Given the description of an element on the screen output the (x, y) to click on. 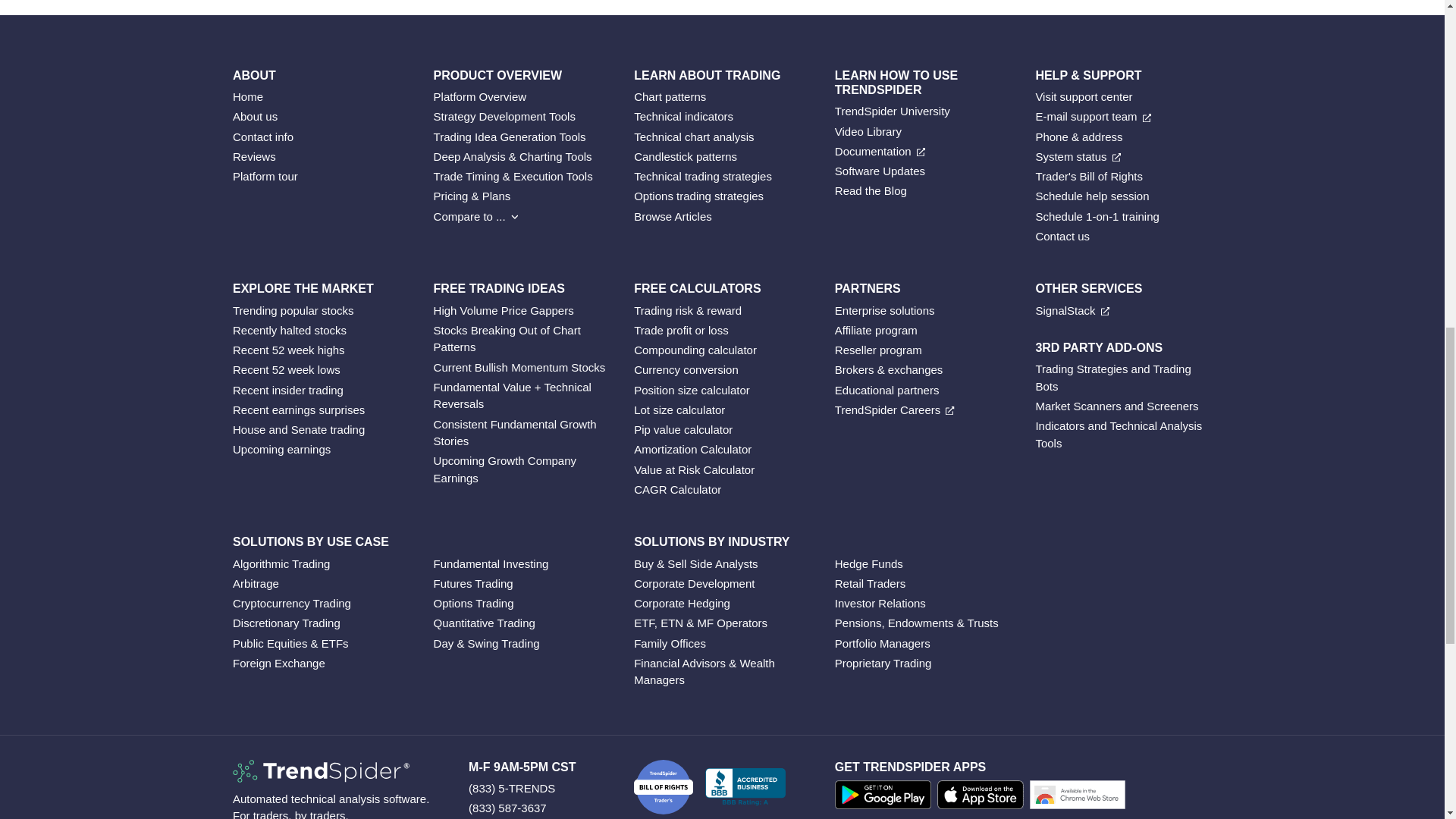
Get TrendSpider App on Google Play (885, 797)
Get TrendSpider App on App Store (983, 797)
TrendSpider (320, 771)
Get TrendSpider extension in Chrome Web Store (1080, 797)
